Given the description of an element on the screen output the (x, y) to click on. 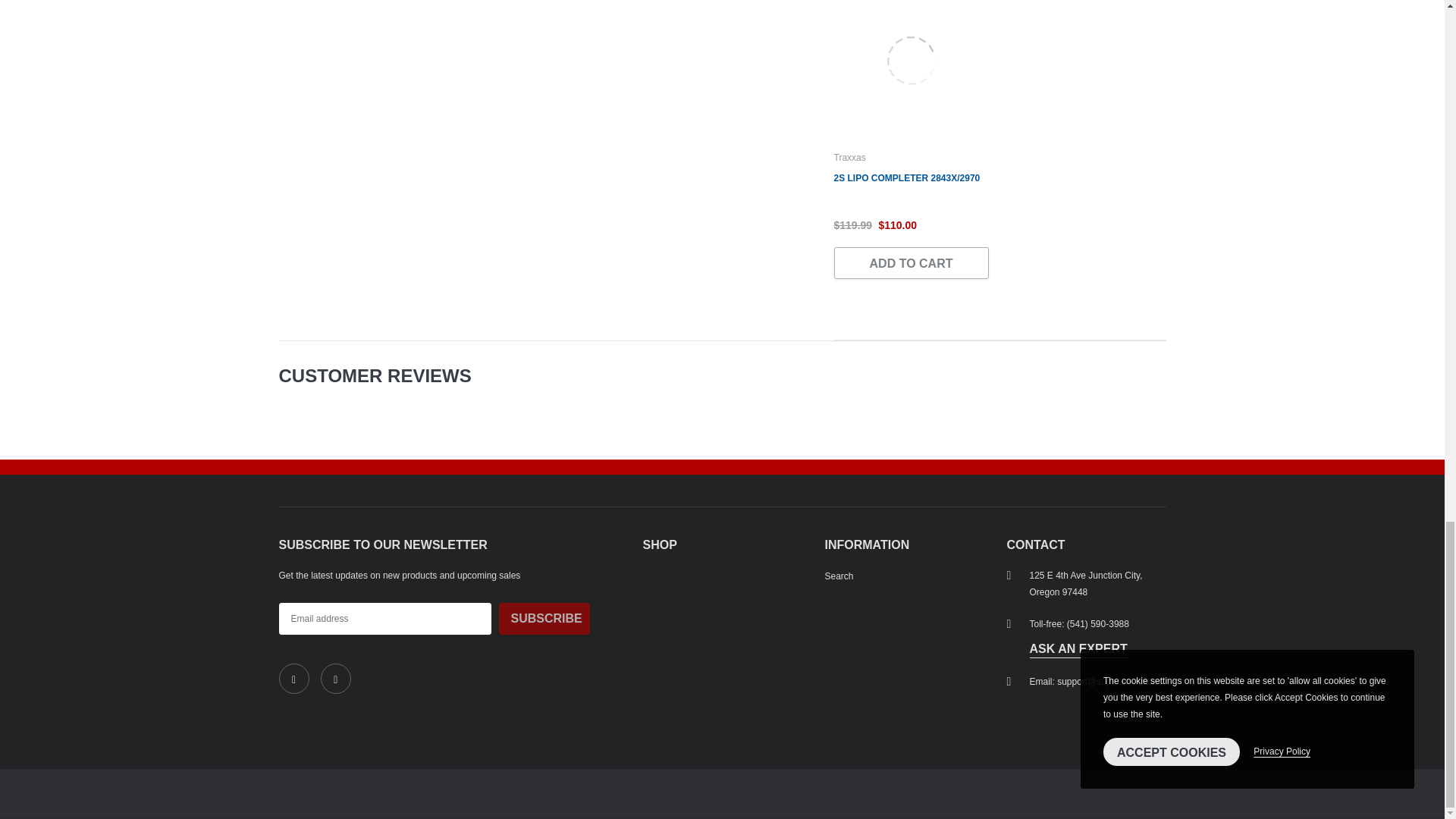
Traxxas (850, 157)
Facebook (293, 678)
Subscribe (544, 618)
Instagram (335, 678)
